Given the description of an element on the screen output the (x, y) to click on. 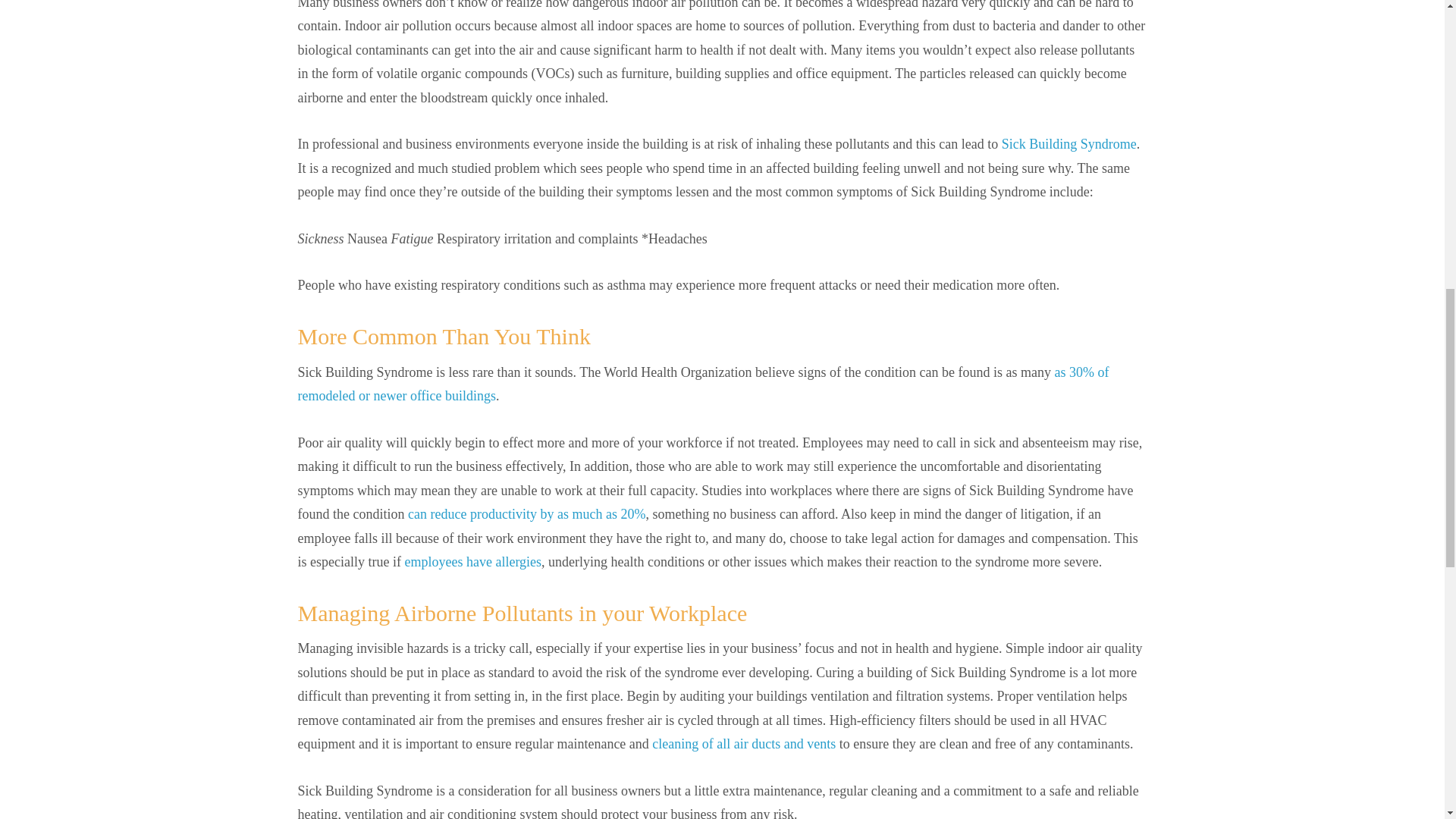
employees have allergies (472, 561)
cleaning of all air ducts and vents (743, 743)
Sick Building Syndrome (1069, 143)
